Given the description of an element on the screen output the (x, y) to click on. 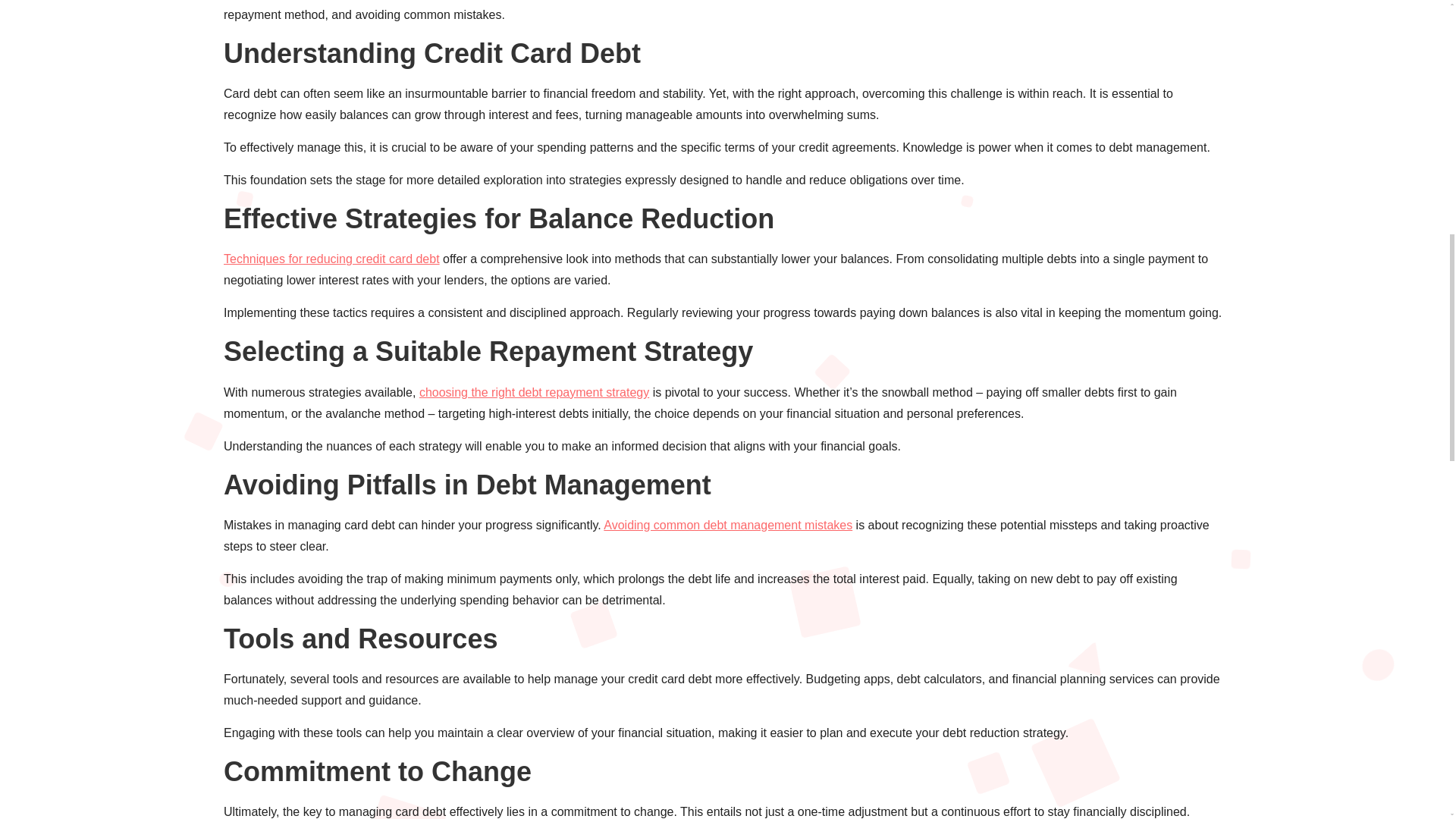
choosing the right debt repayment strategy (534, 391)
Avoiding common debt management mistakes (727, 524)
Techniques for reducing credit card debt (331, 258)
